Given the description of an element on the screen output the (x, y) to click on. 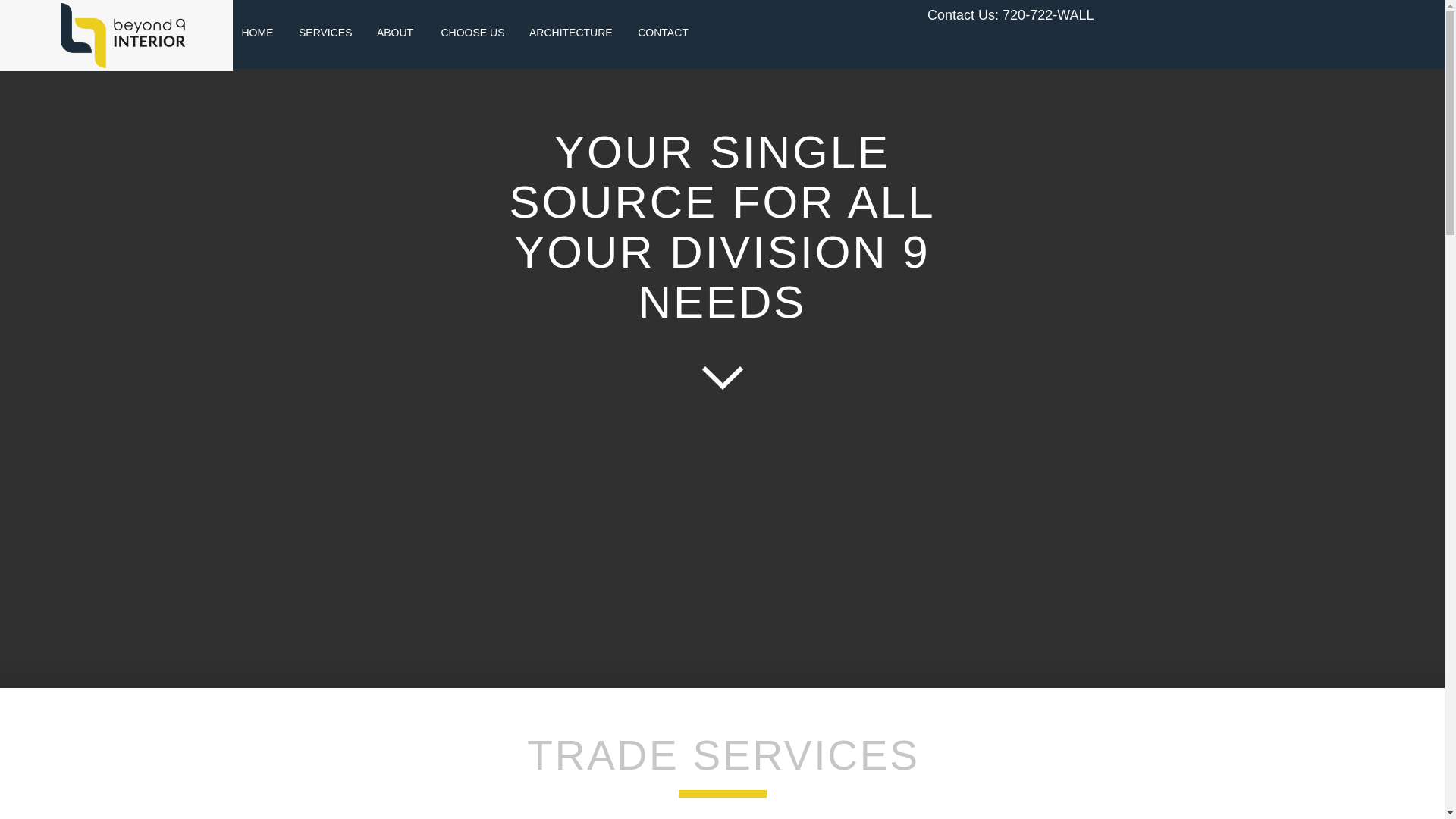
Embedded Content (1299, 105)
ARCHITECTURE (570, 32)
HOME (256, 32)
CHOOSE US (473, 32)
Embedded Content (340, 152)
CONTACT (663, 32)
ABOUT (395, 32)
SERVICES (324, 32)
